Given the description of an element on the screen output the (x, y) to click on. 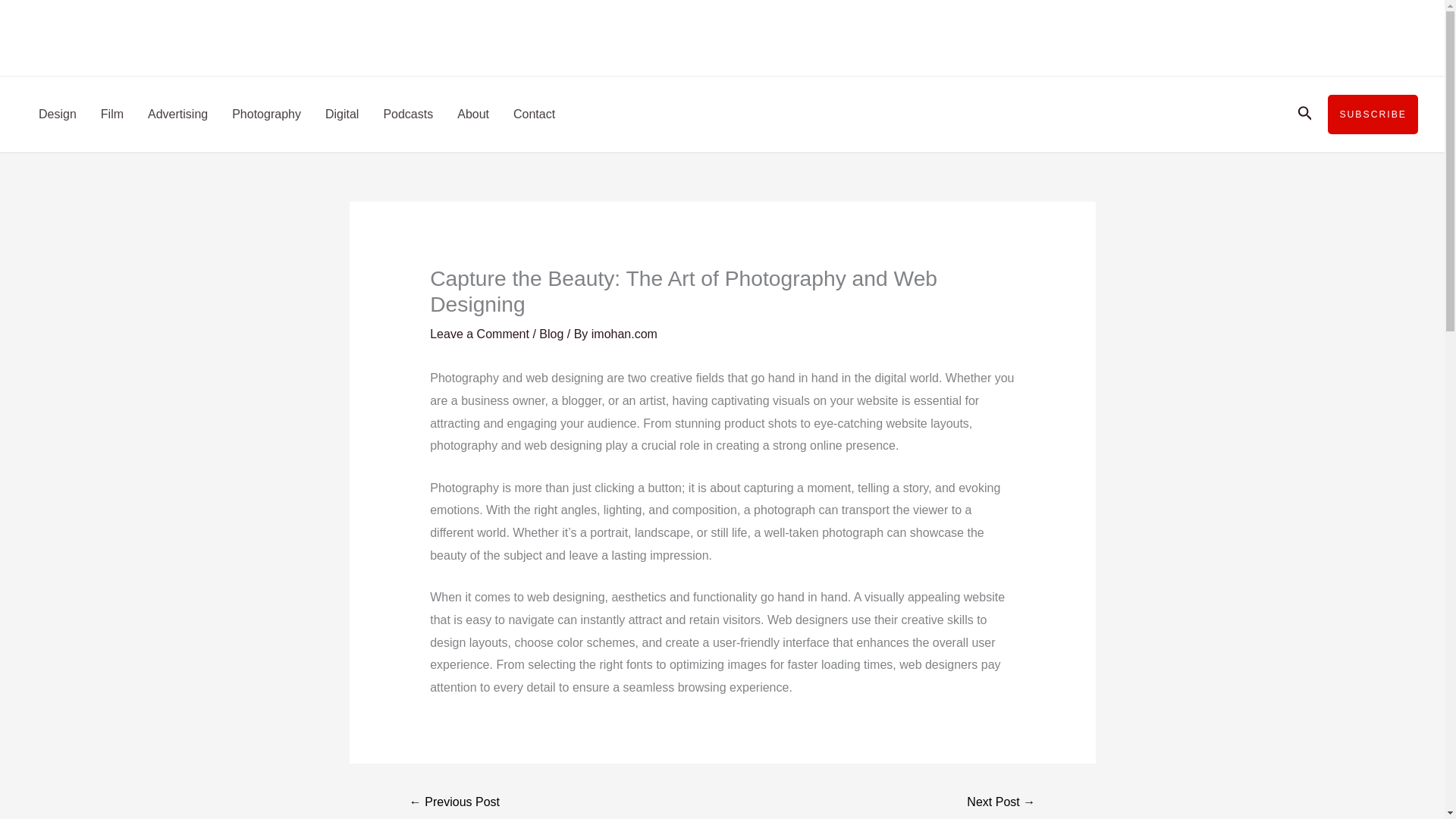
Leave a Comment (479, 333)
Capturing Moments: The Power of Professional Photography (454, 803)
Photography (266, 114)
imohan.com (624, 333)
SUBSCRIBE (1372, 115)
Podcasts (408, 114)
Advertising (177, 114)
Blog (550, 333)
Capturing Memories: The Power of Photography (1000, 803)
View all posts by imohan.com (624, 333)
